Given the description of an element on the screen output the (x, y) to click on. 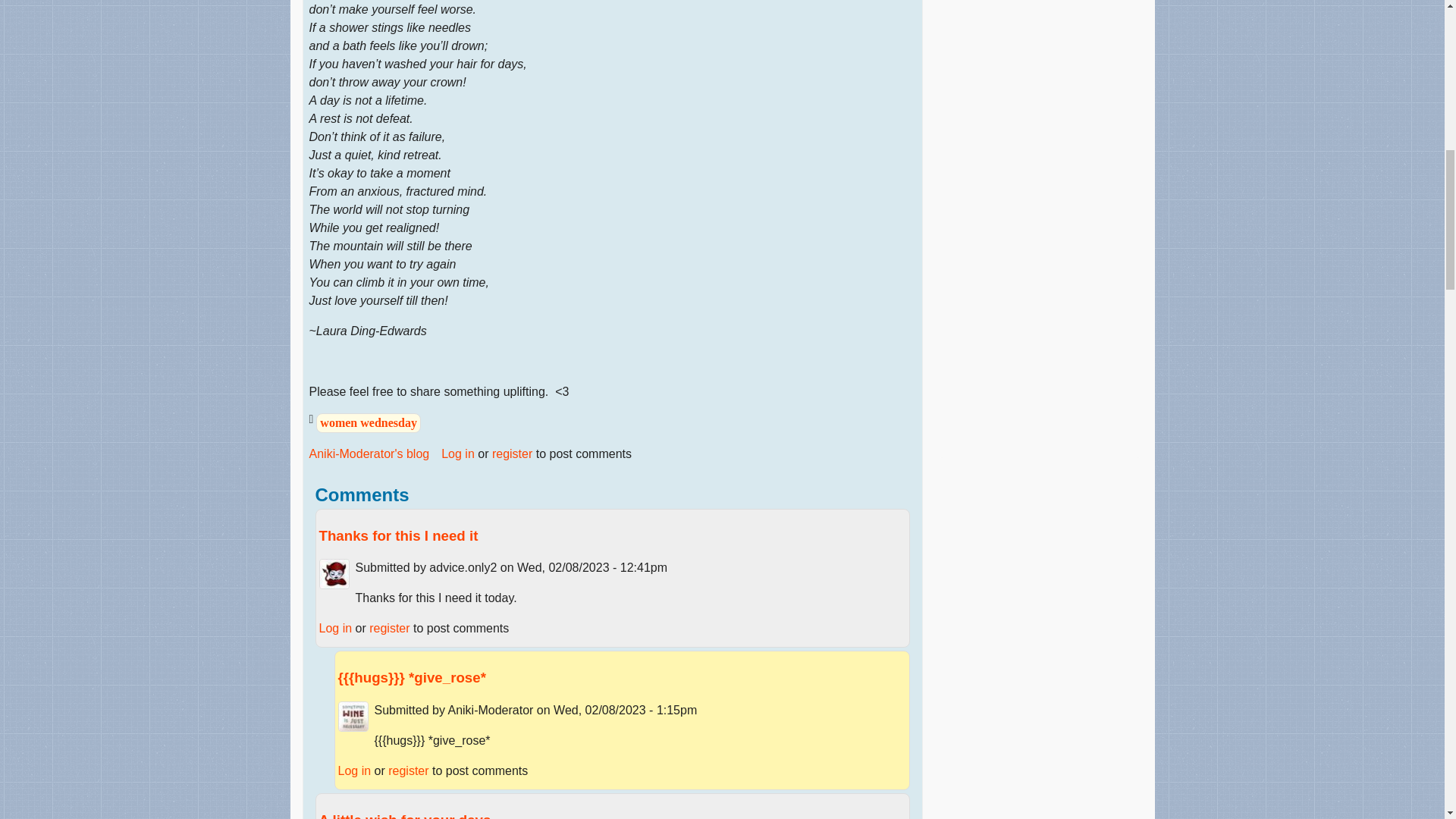
A little wish for your days (404, 815)
Thanks for this I need it (397, 535)
Aniki-Moderator's picture (352, 716)
register (408, 770)
Log in (457, 453)
Aniki-Moderator's blog (368, 454)
register (389, 627)
Read Aniki-Moderator's latest blog entries. (368, 454)
advice.only2's picture (333, 573)
register (512, 453)
Log in (354, 770)
women wednesday (367, 423)
Log in (335, 627)
